Given the description of an element on the screen output the (x, y) to click on. 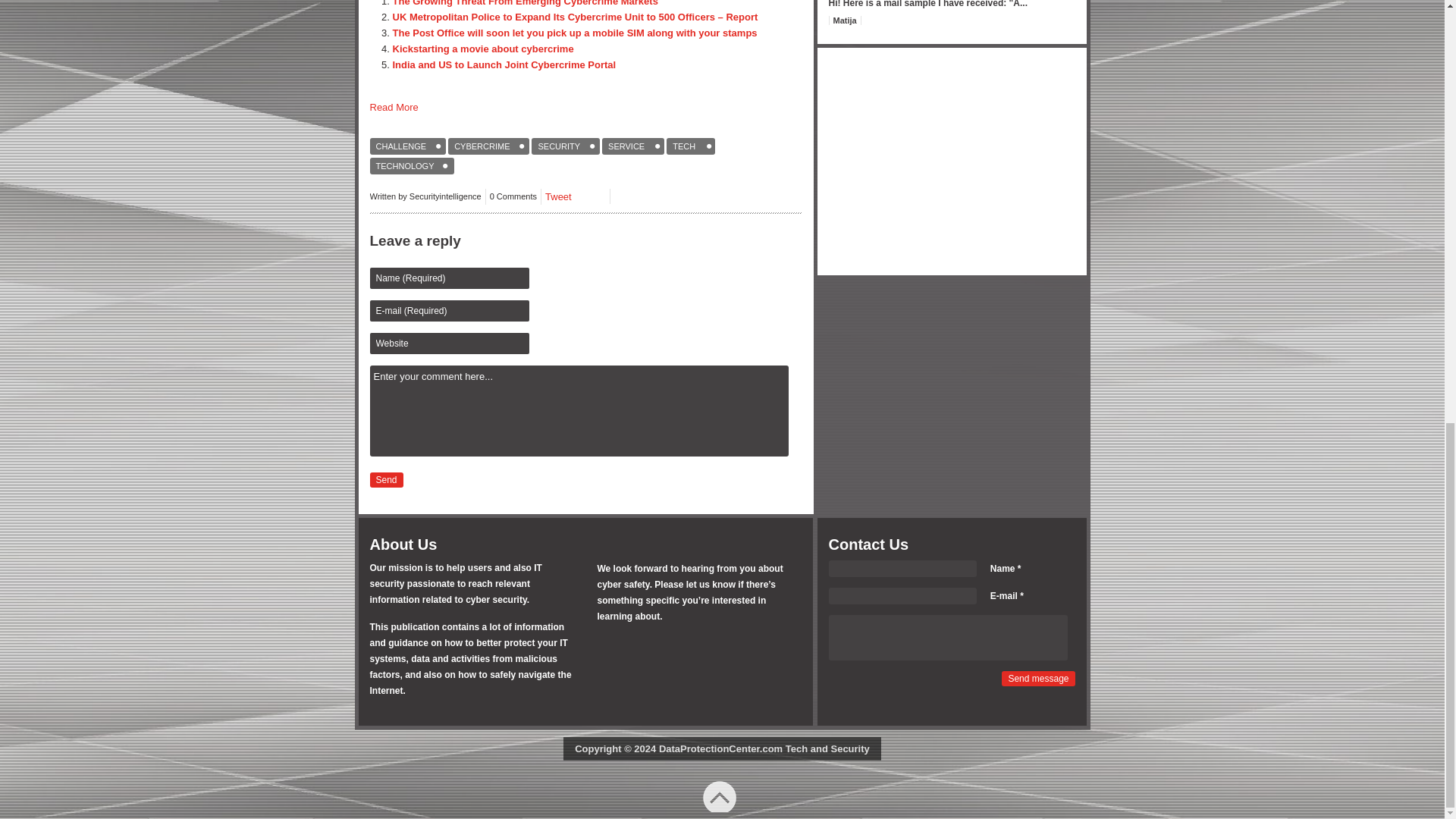
India and US to Launch Joint Cybercrime Portal (504, 64)
Send message (1037, 678)
Kickstarting a movie about cybercrime (483, 48)
Advertisement (952, 161)
SERVICE (632, 146)
The Growing Threat From Emerging Cybercrime Markets (525, 3)
Kickstarting a movie about cybercrime (483, 48)
TECH (690, 146)
